Given the description of an element on the screen output the (x, y) to click on. 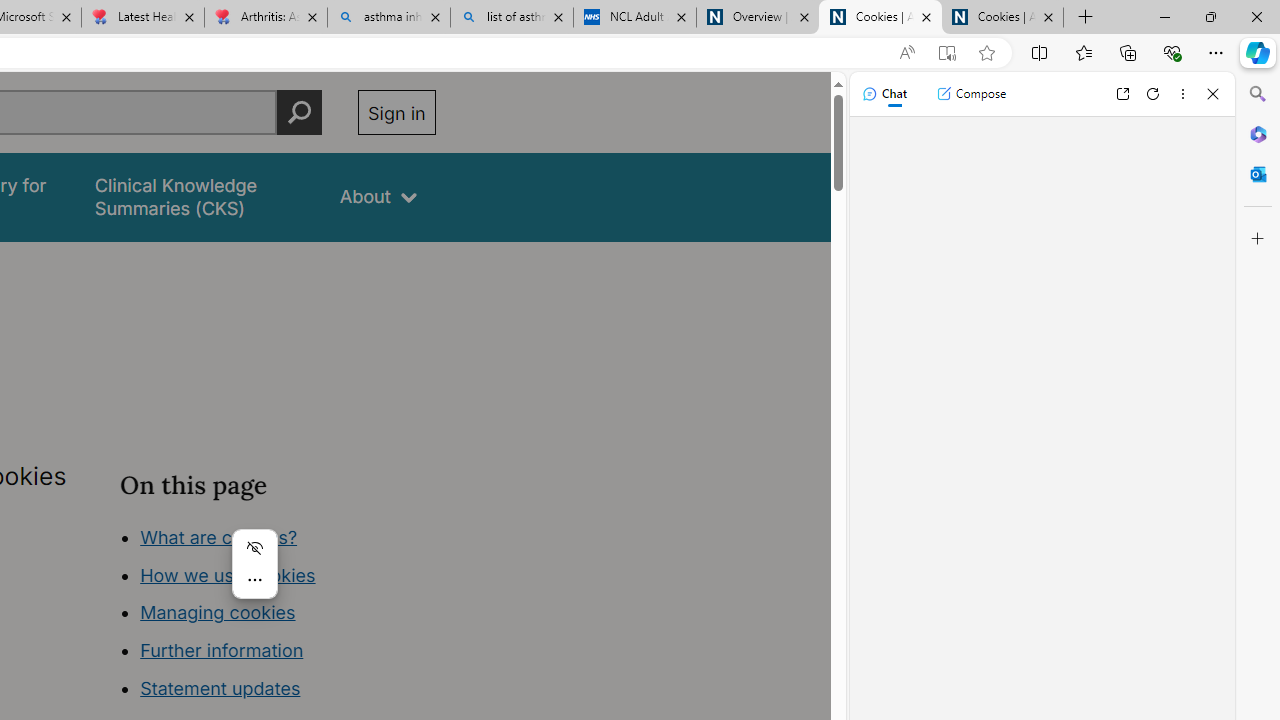
Class: in-page-nav__list (277, 615)
About (378, 196)
false (198, 196)
Perform search (299, 112)
Further information (221, 650)
Enter Immersive Reader (F9) (946, 53)
More actions (254, 579)
Cookies | About | NICE (1002, 17)
Sign in (396, 112)
